Given the description of an element on the screen output the (x, y) to click on. 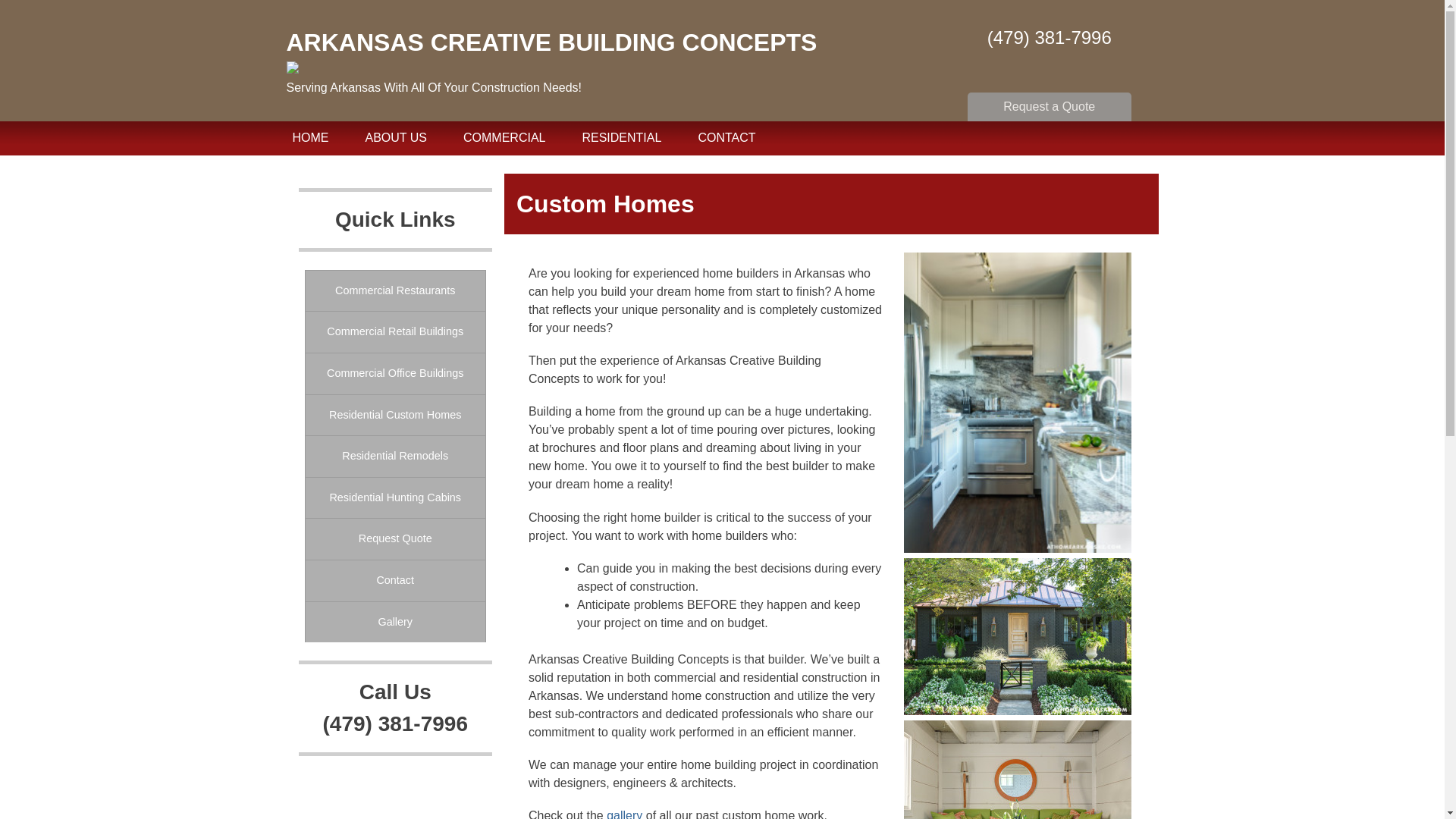
Commercial Restaurants (394, 291)
COMMERCIAL (504, 138)
CONTACT (726, 138)
Commercial Retail Buildings (394, 332)
Commercial Office Buildings (394, 372)
Request a Quote (1049, 108)
gallery (624, 814)
Residential Hunting Cabins (394, 497)
Contact (394, 580)
RESIDENTIAL (620, 138)
ABOUT US (396, 138)
HOME (310, 138)
ARKANSAS CREATIVE BUILDING CONCEPTS (551, 42)
Gallery (394, 621)
Request Quote (394, 538)
